Given the description of an element on the screen output the (x, y) to click on. 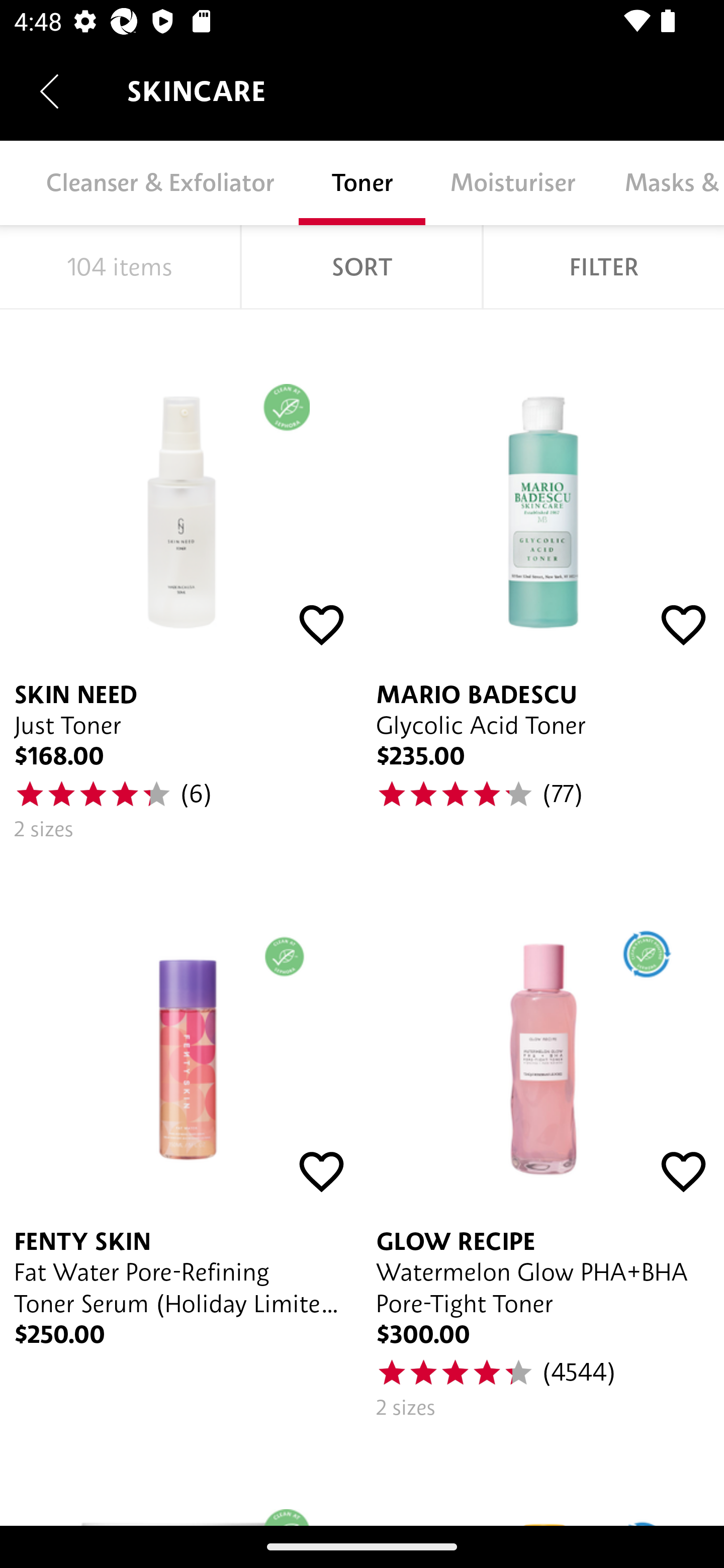
Navigate up (49, 91)
Cleanser & Exfoliator (159, 183)
Moisturiser (512, 183)
Masks & Treatments (661, 183)
SORT (361, 266)
FILTER (603, 266)
SKIN NEED Just Toner $168.00 43.0 (6) 2 sizes (181, 582)
